Given the description of an element on the screen output the (x, y) to click on. 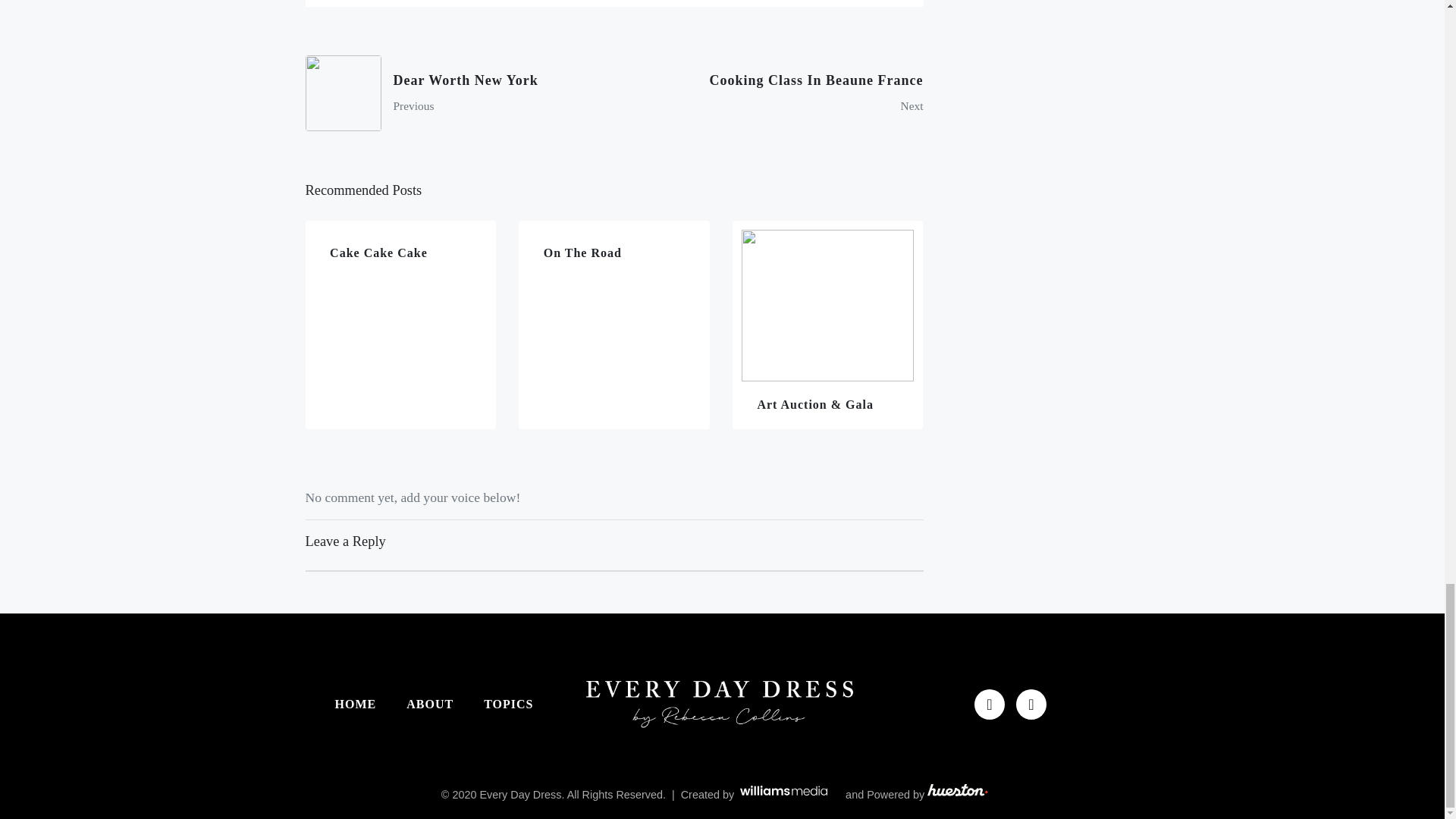
cooking class in beaune france (774, 93)
dear worth new york (454, 93)
Cake Cake Cake (454, 93)
Comment Form (400, 324)
